Given the description of an element on the screen output the (x, y) to click on. 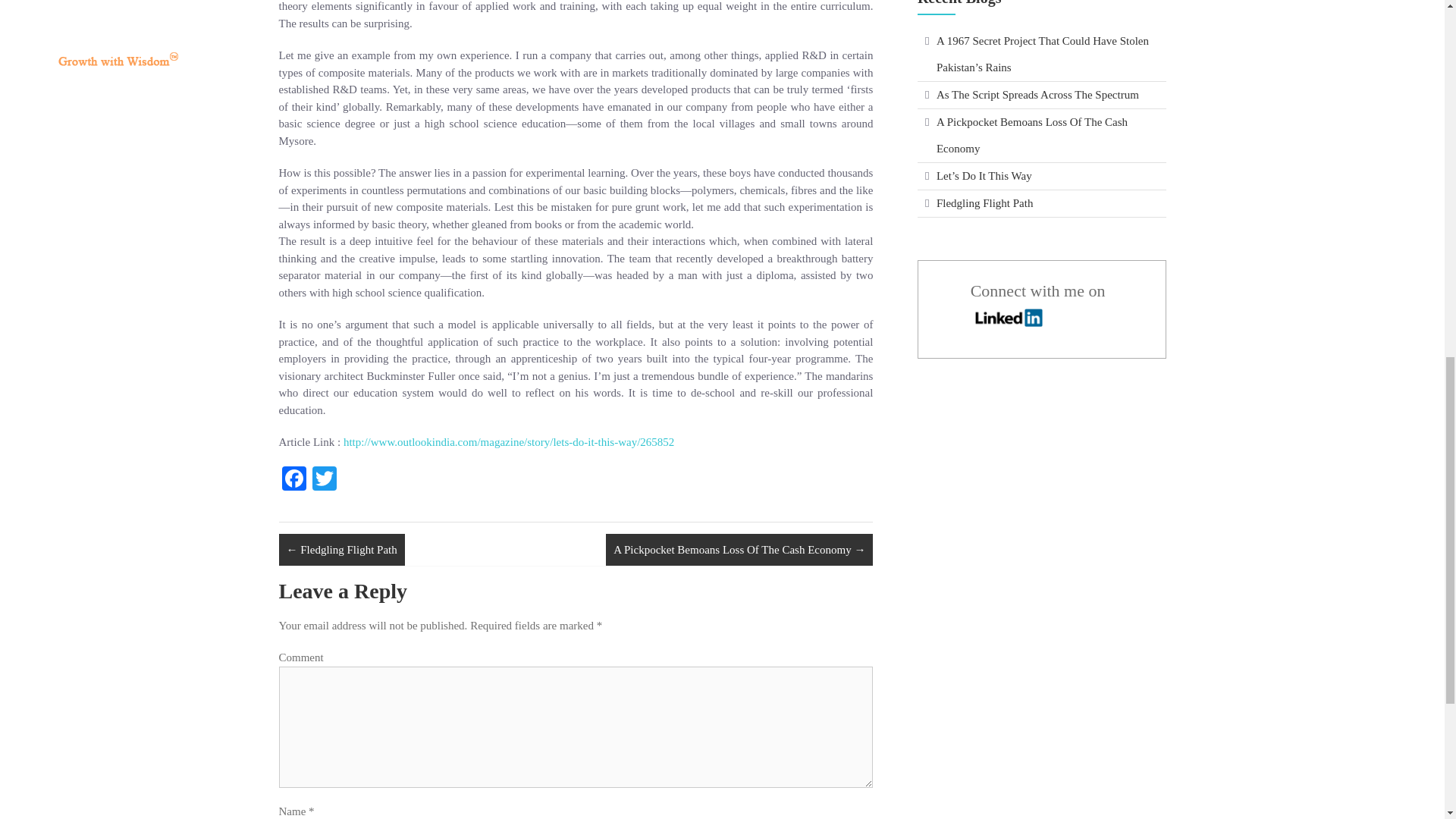
Facebook (293, 480)
Twitter (323, 480)
Facebook (293, 480)
Twitter (323, 480)
